Given the description of an element on the screen output the (x, y) to click on. 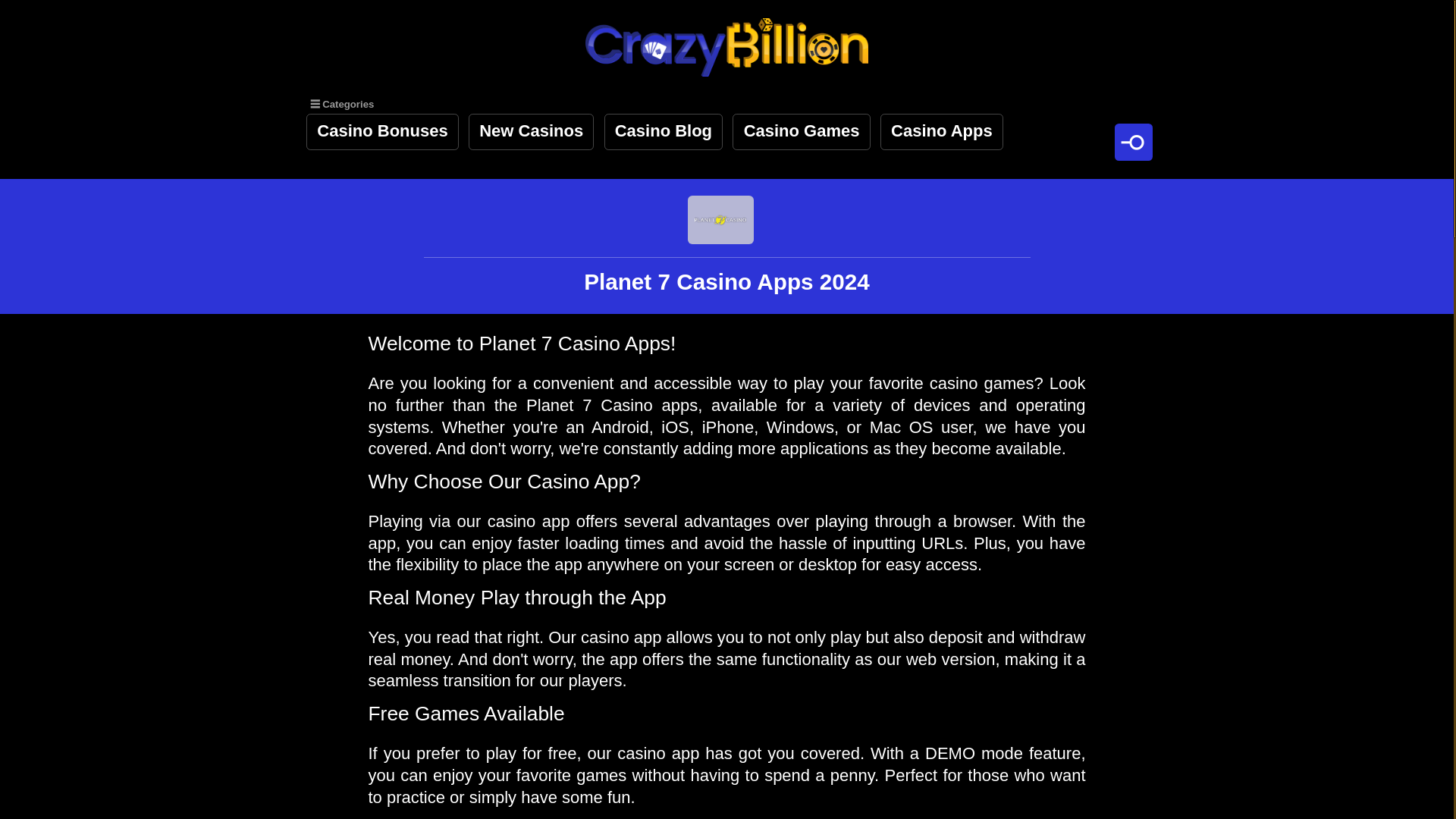
New Casinos (531, 131)
Casino Apps (941, 131)
Casino Blog (663, 131)
Casino Bonuses (381, 131)
Casino Games (800, 131)
